Given the description of an element on the screen output the (x, y) to click on. 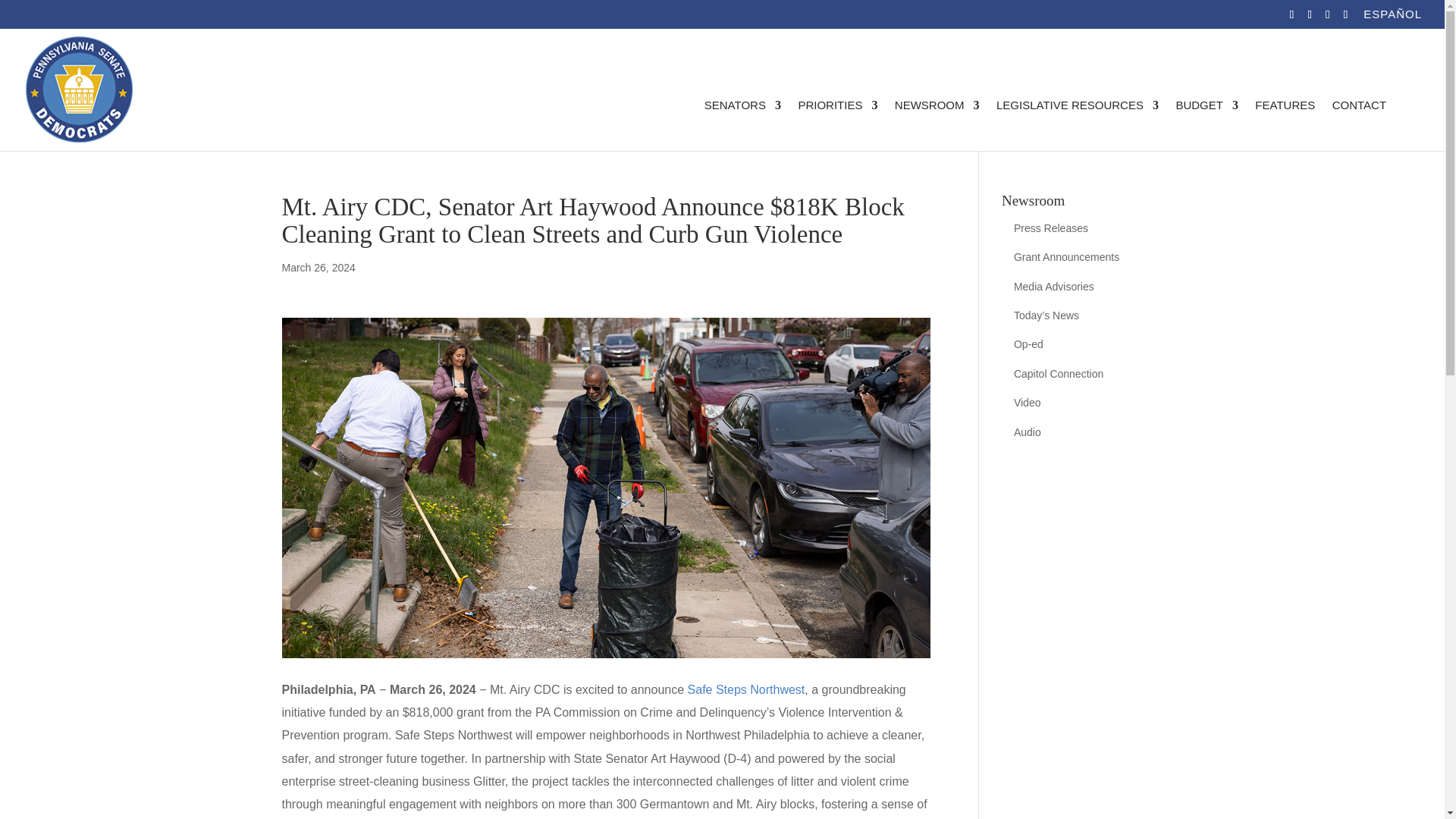
NEWSROOM (937, 124)
SENATORS (742, 124)
LEGISLATIVE RESOURCES (1076, 124)
PRIORITIES (837, 124)
